Given the description of an element on the screen output the (x, y) to click on. 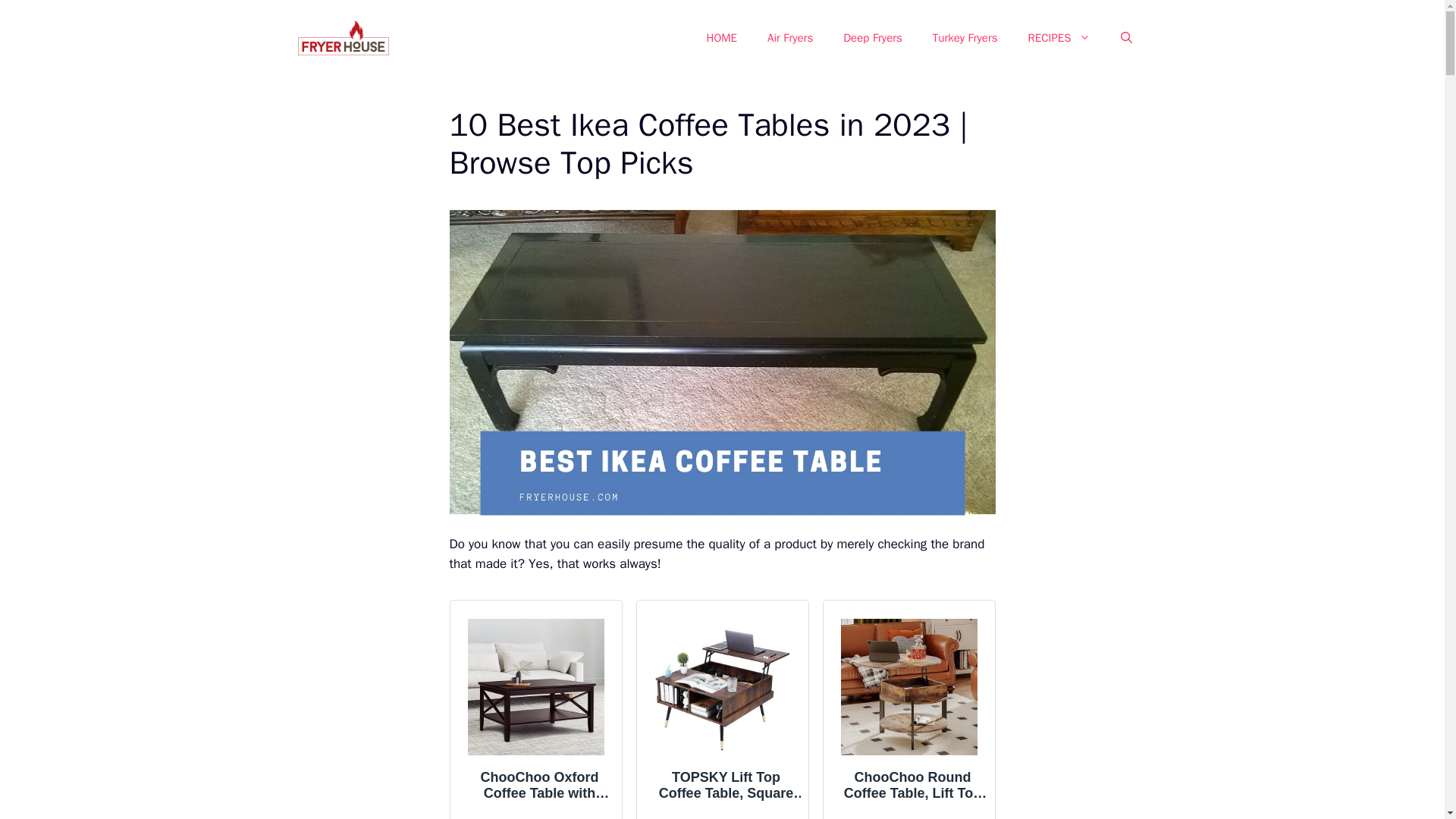
HOME (721, 37)
Air Fryers (790, 37)
RECIPES (1059, 37)
Turkey Fryers (965, 37)
Deep Fryers (872, 37)
